Given the description of an element on the screen output the (x, y) to click on. 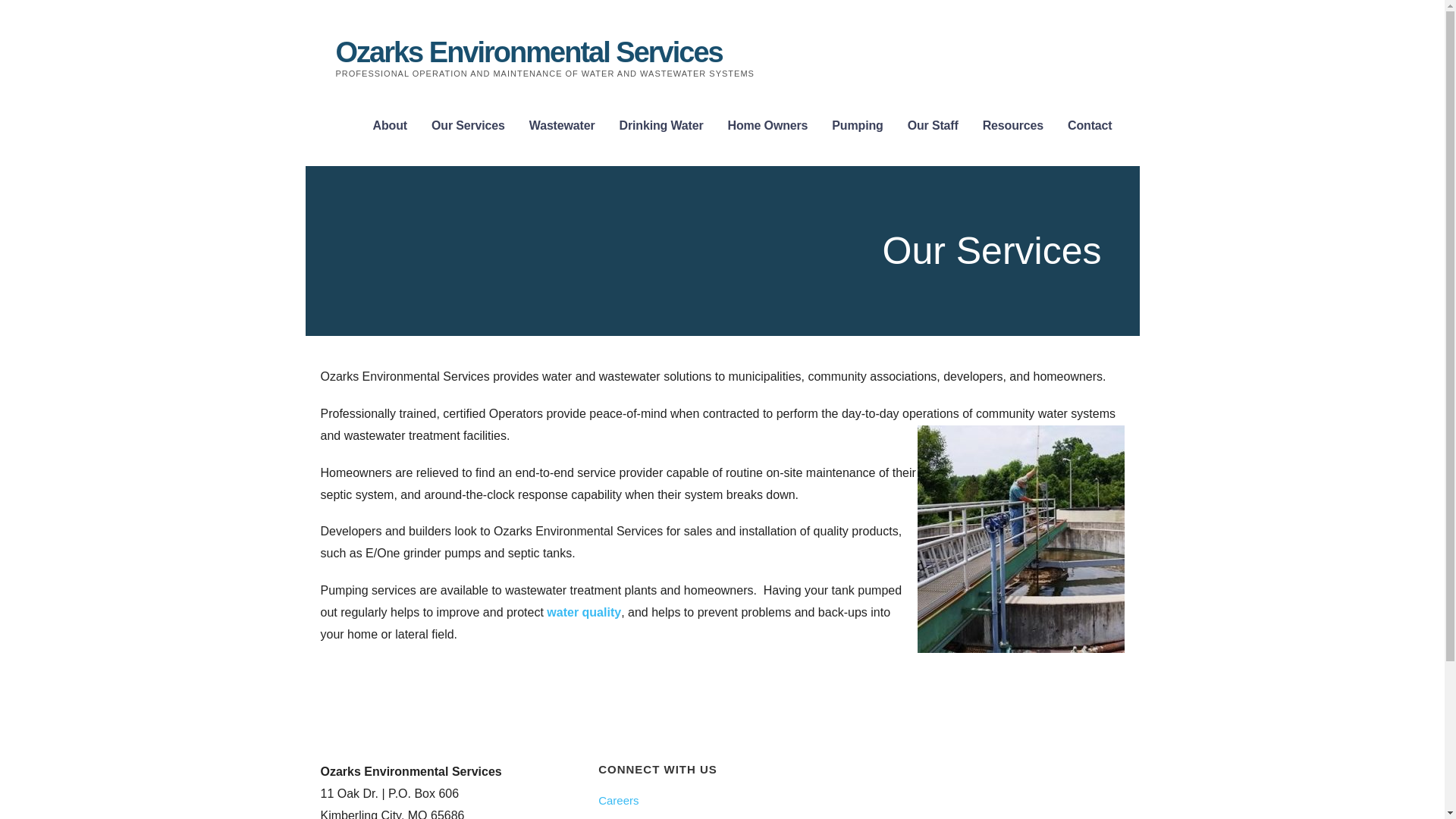
Our Staff (932, 126)
Resources (1012, 126)
Our Services (467, 126)
Wastewater (562, 126)
Careers (721, 799)
About (389, 126)
Contact (721, 817)
Pumping (856, 126)
Drinking Water (661, 126)
Home Owners (768, 126)
